Given the description of an element on the screen output the (x, y) to click on. 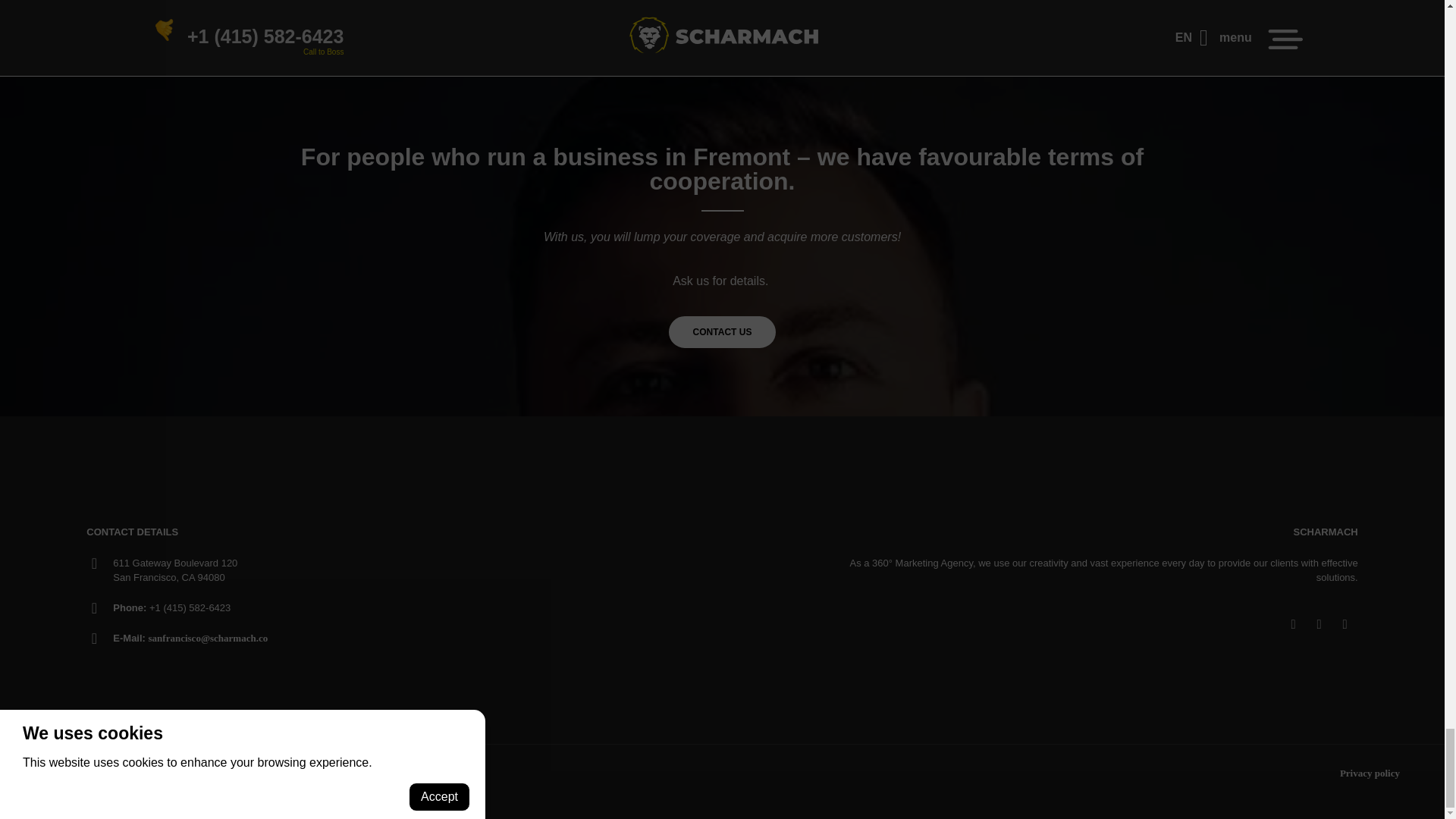
CONTACT US (722, 332)
